Given the description of an element on the screen output the (x, y) to click on. 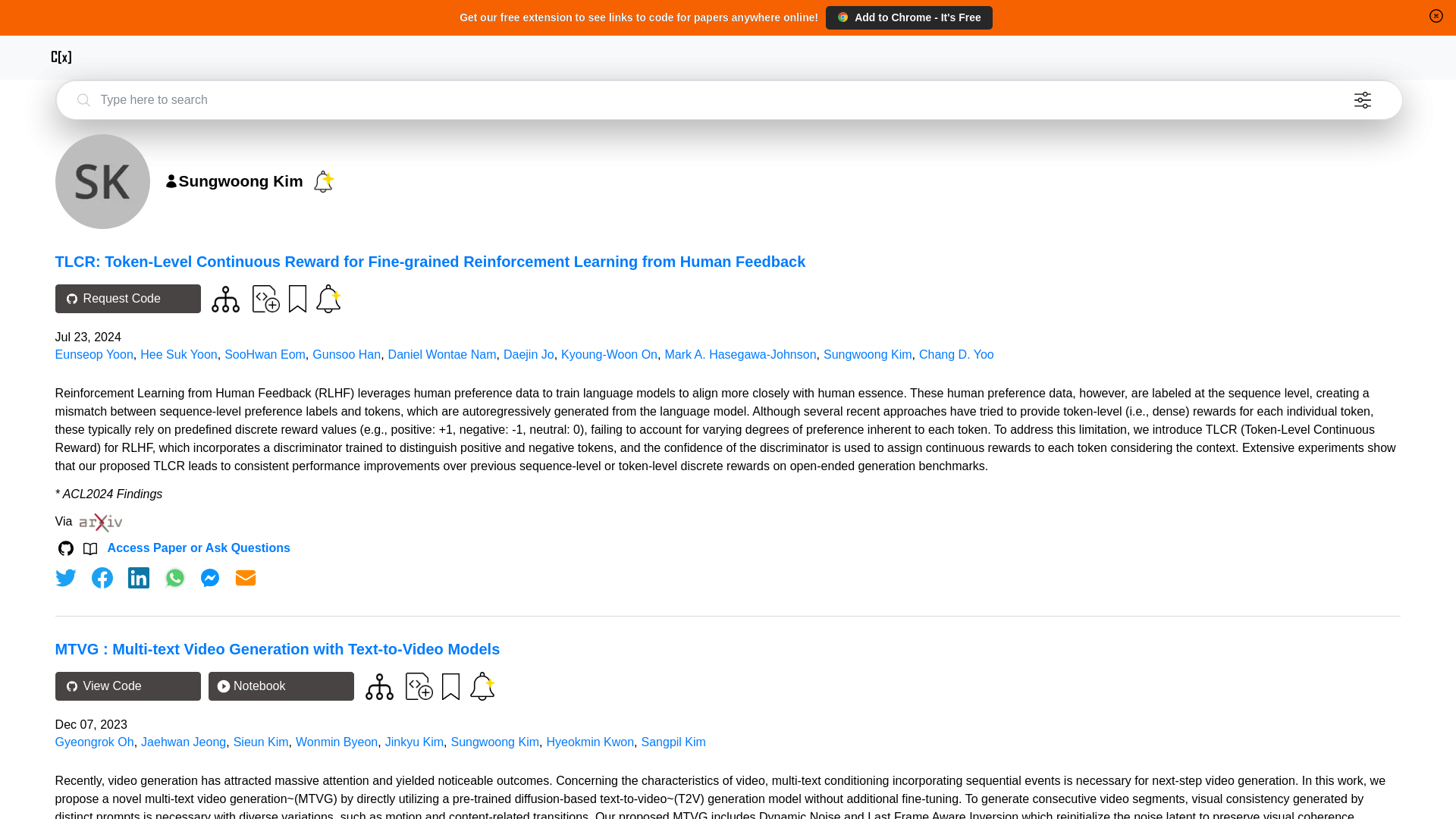
Sieun Kim (260, 741)
Contribute your code for this paper to the community (419, 685)
Wonmin Byeon (336, 741)
Add to Chrome - It's Free (908, 17)
Sungwoong Kim (868, 354)
Gunsoo Han (346, 354)
Gyeongrok Oh (94, 741)
Request Code (127, 298)
View Code (127, 686)
Chang D. Yoo (956, 354)
